Given the description of an element on the screen output the (x, y) to click on. 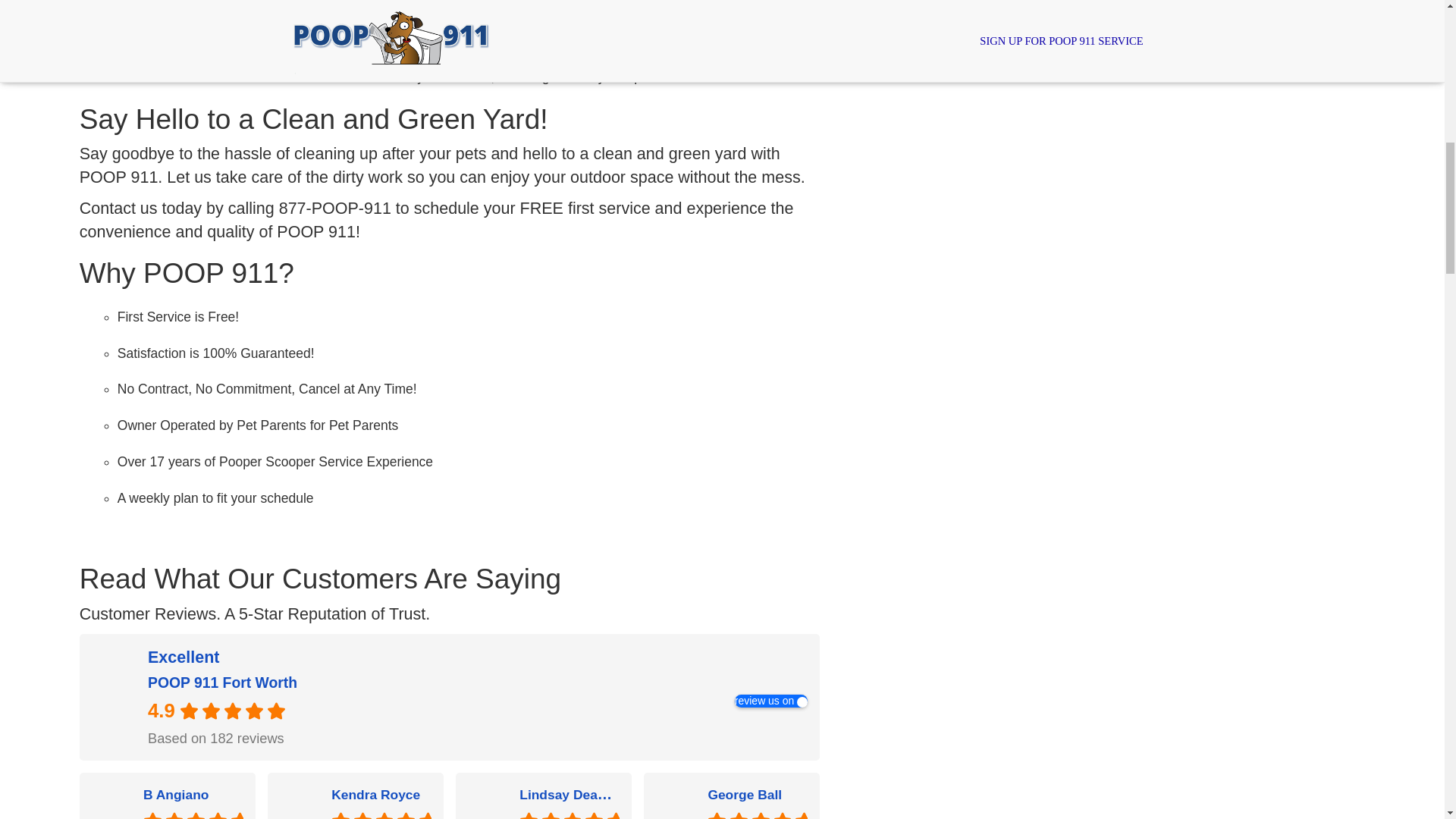
George Ball (757, 793)
George Ball (675, 803)
POOP 911 Fort Worth (222, 682)
B Angiano (175, 794)
POOP 911 Fort Worth (115, 696)
George Ball (744, 794)
Lindsay Deauville (574, 793)
B Angiano (192, 793)
Kendra Royce (375, 794)
B Angiano (111, 803)
Kendra Royce (380, 793)
Lindsay Deauville (569, 793)
Kendra Royce (298, 803)
Lindsay Deauville (486, 803)
